Given the description of an element on the screen output the (x, y) to click on. 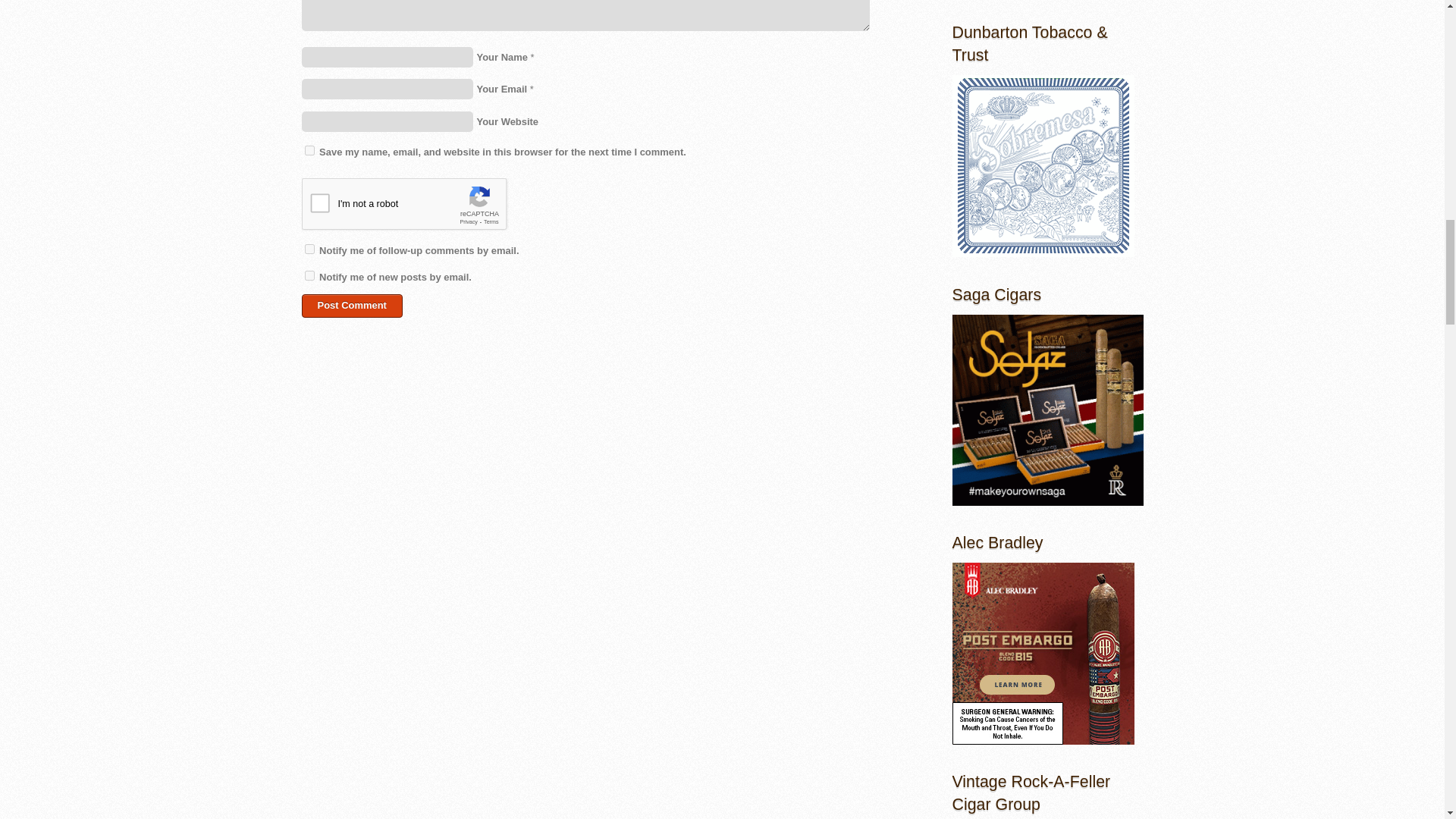
subscribe (309, 275)
subscribe (309, 248)
reCAPTCHA (416, 207)
Post Comment (352, 305)
yes (309, 150)
